Given the description of an element on the screen output the (x, y) to click on. 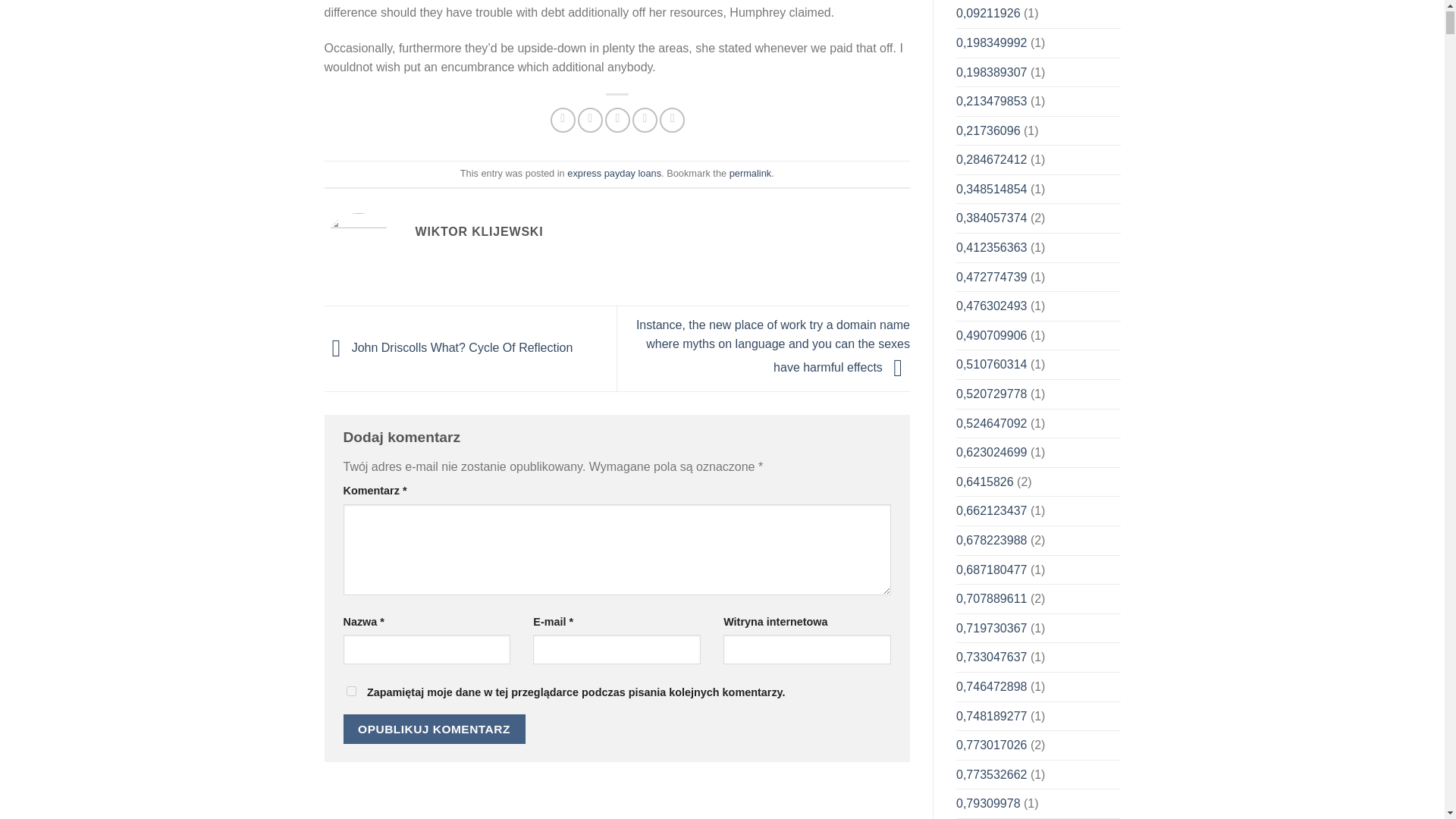
John Driscolls What? Cycle Of Reflection (448, 348)
express payday loans (614, 173)
Opublikuj komentarz (433, 728)
Share on LinkedIn (671, 119)
Pin on Pinterest (644, 119)
Email to a Friend (617, 119)
Share on Facebook (562, 119)
Share on Twitter (590, 119)
yes (350, 691)
permalink (750, 173)
Opublikuj komentarz (433, 728)
